Given the description of an element on the screen output the (x, y) to click on. 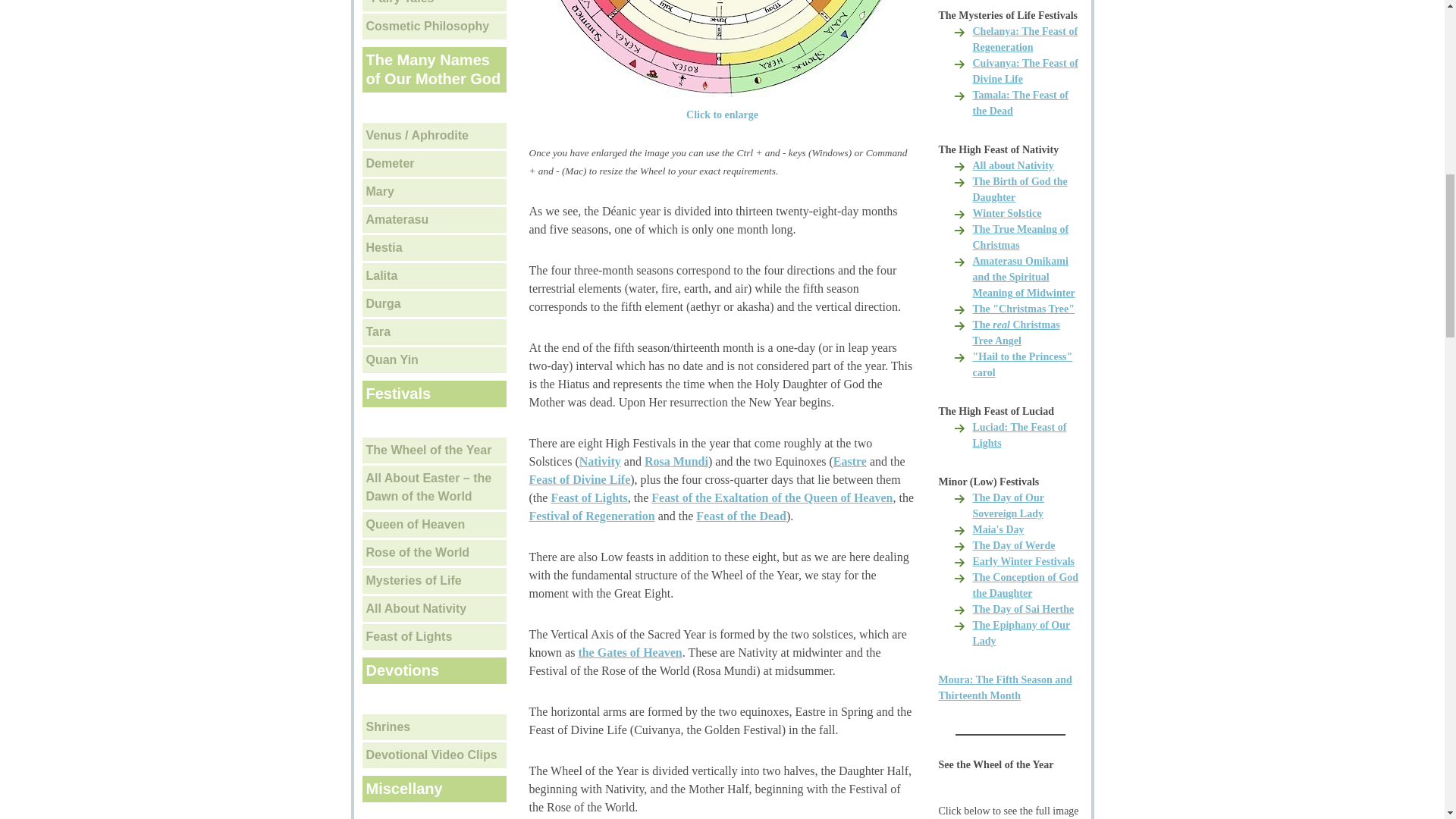
Eastre (849, 461)
Click to enlarge (722, 104)
Nativity (600, 461)
Feast of Lights (588, 497)
Diagram of the Wheel of the Year (721, 48)
Rosa Mundi (676, 461)
the Gates of Heaven (629, 652)
Feast of Divine Life (579, 479)
Feast of the Exaltation of the Queen of Heaven (771, 497)
Festival of Regeneration (592, 515)
